Given the description of an element on the screen output the (x, y) to click on. 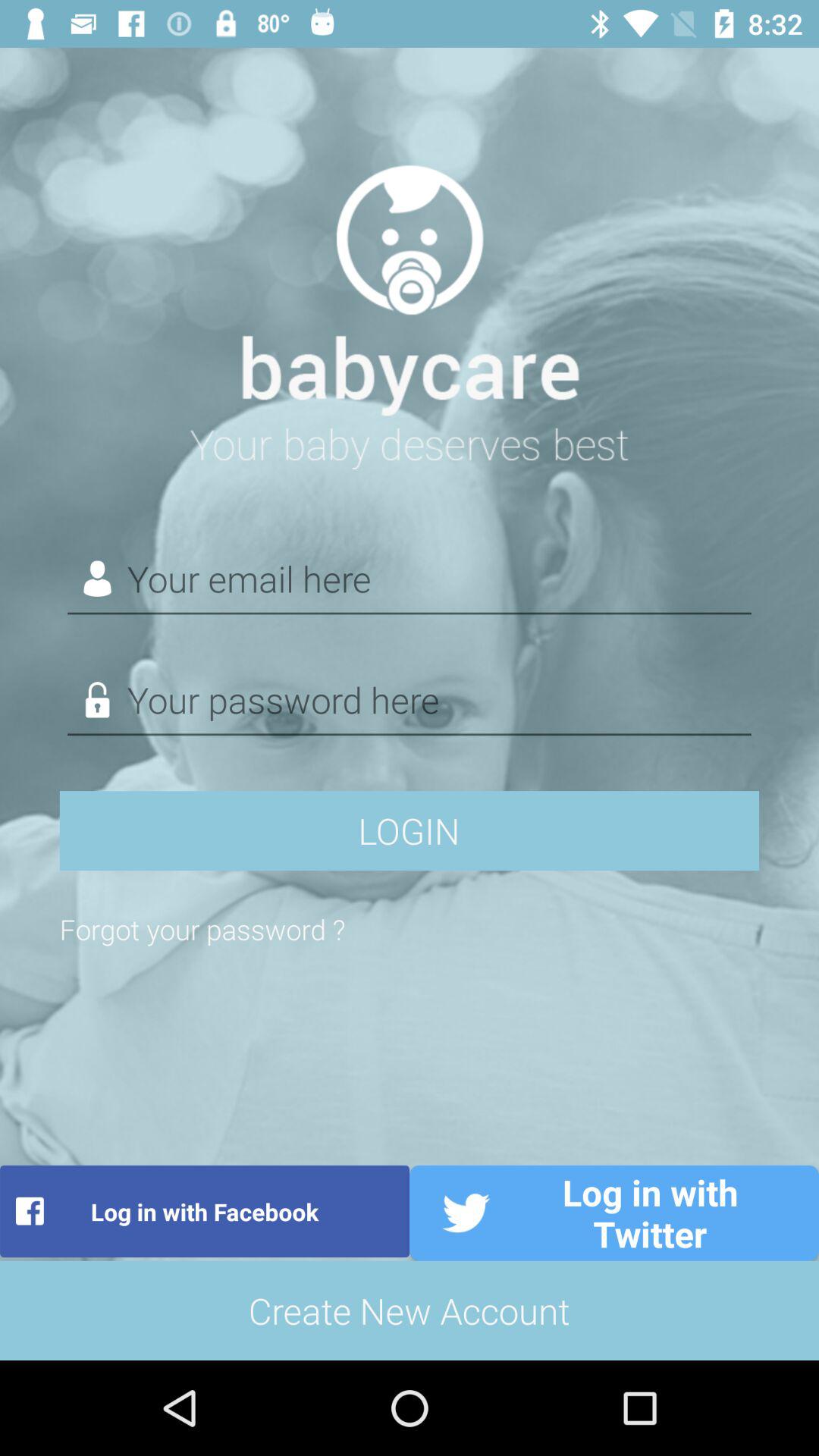
enter password (409, 700)
